Given the description of an element on the screen output the (x, y) to click on. 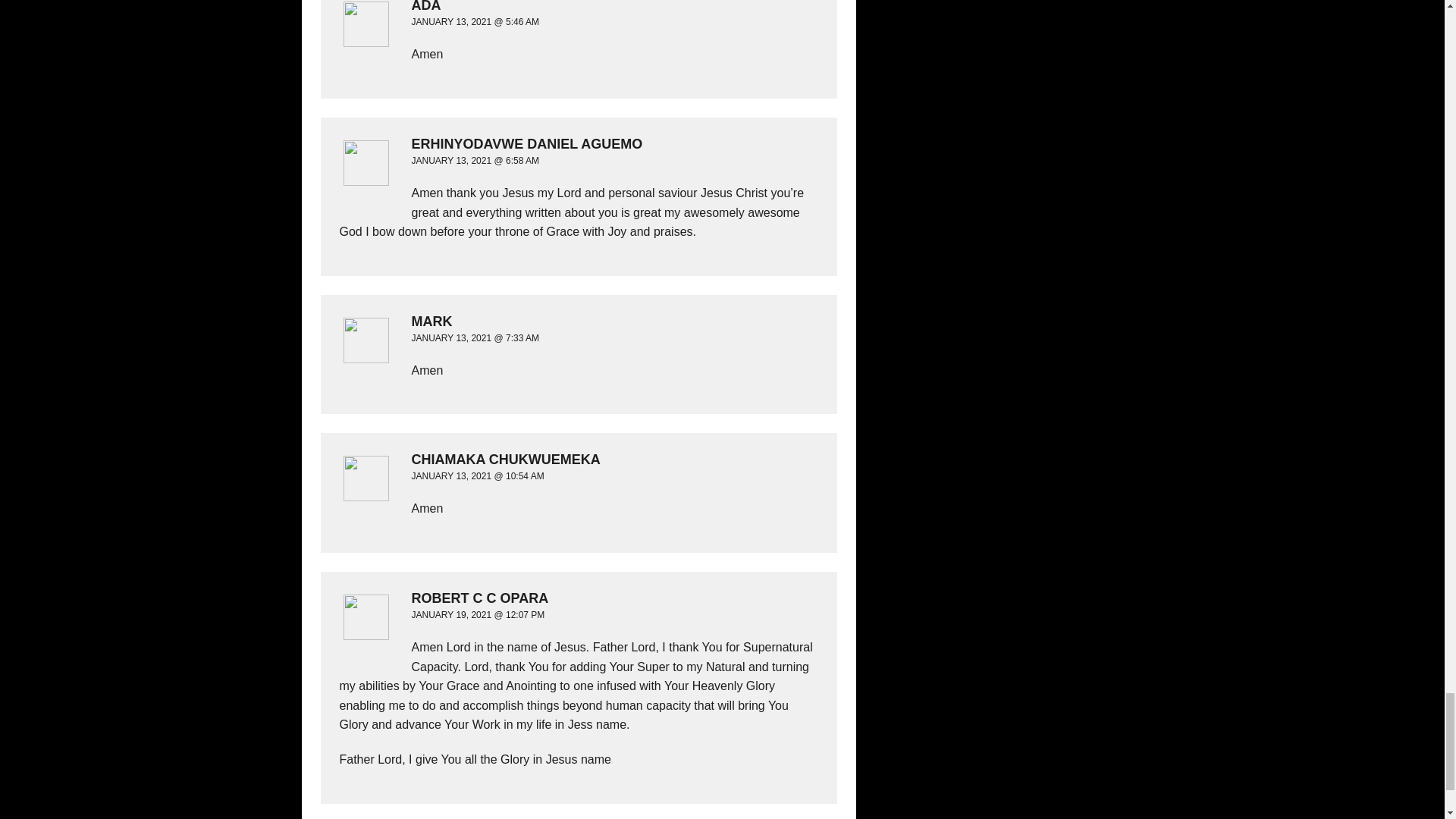
CHIAMAKA CHUKWUEMEKA (574, 459)
